Given the description of an element on the screen output the (x, y) to click on. 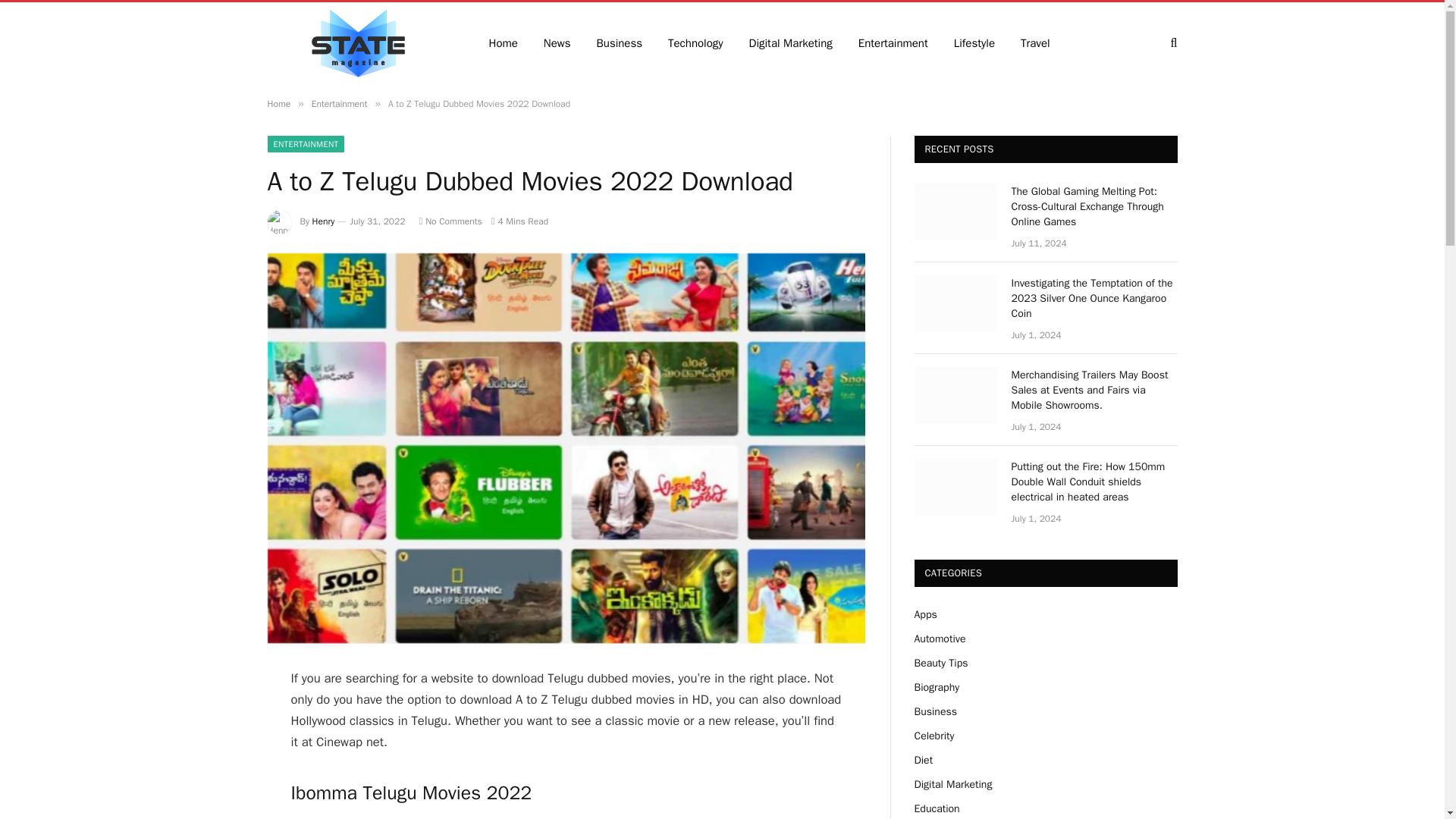
Digital Marketing (790, 42)
statemagazine.info (357, 43)
Posts by Henry (323, 221)
Entertainment (339, 103)
ENTERTAINMENT (304, 143)
Entertainment (892, 42)
Henry (323, 221)
Technology (695, 42)
